Given the description of an element on the screen output the (x, y) to click on. 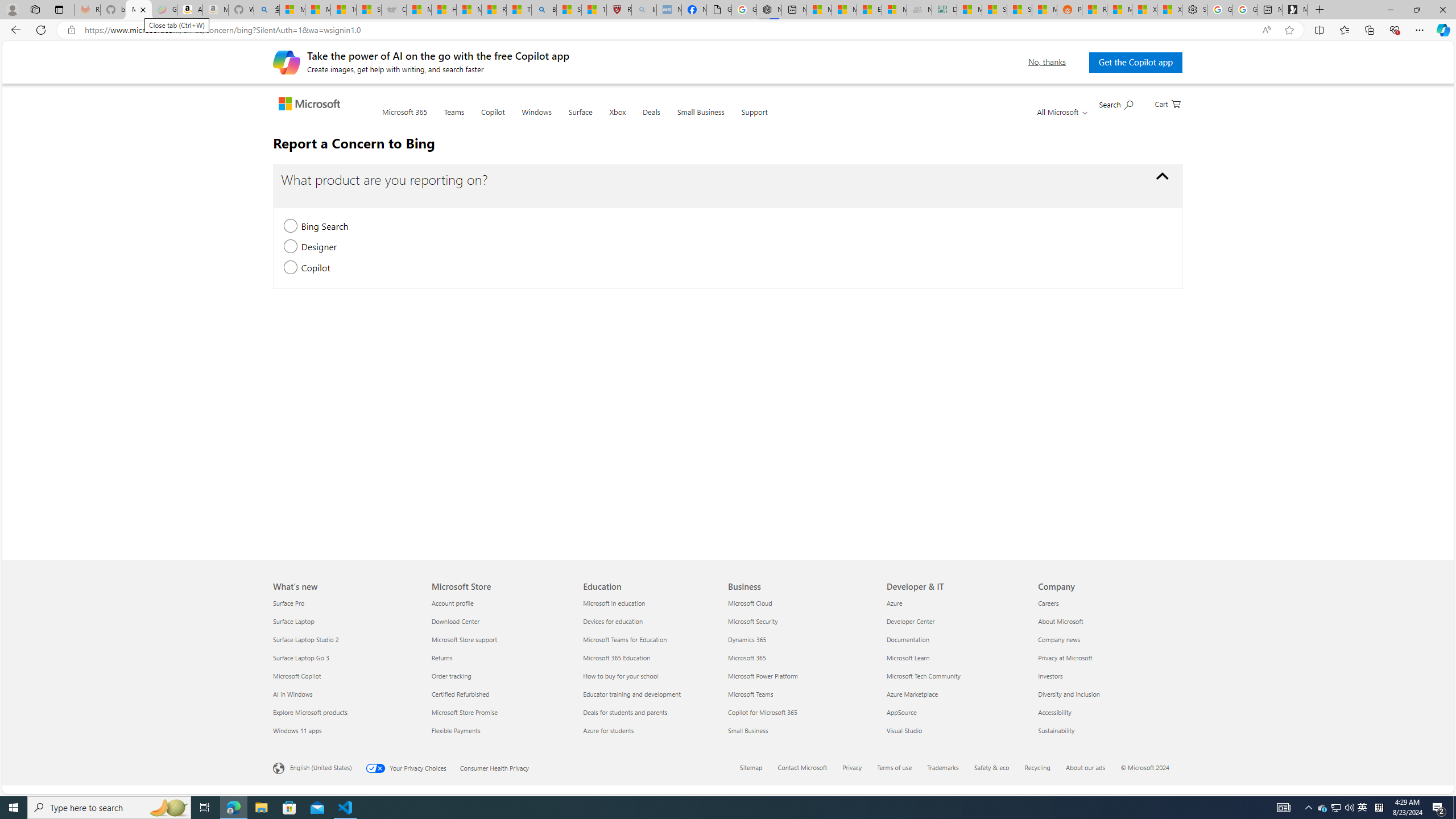
Trademarks (949, 768)
Order tracking (499, 675)
Visual Studio (955, 730)
About Microsoft Company (1060, 620)
Explore Microsoft products (345, 711)
Support (754, 118)
Copilot (492, 118)
Devices for education (651, 620)
Azure Marketplace (955, 693)
About our ads (1085, 766)
Sitemap (750, 766)
